Given the description of an element on the screen output the (x, y) to click on. 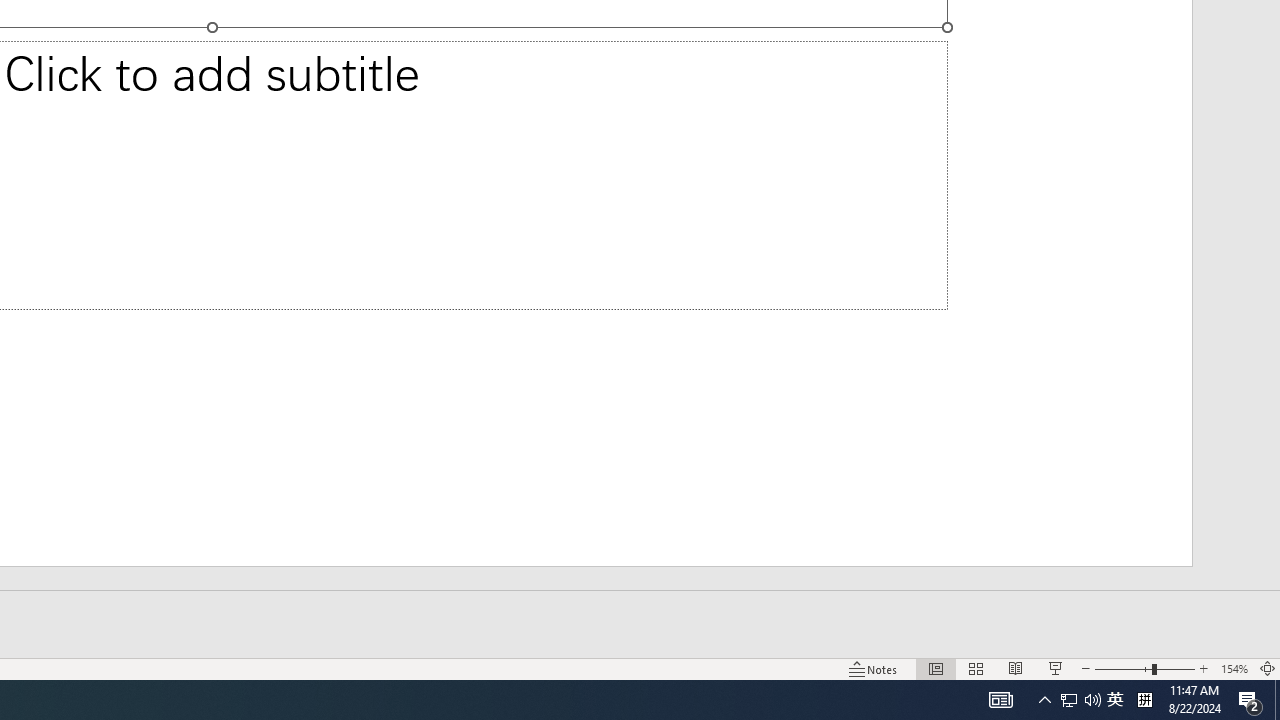
Zoom 154% (1234, 668)
